Given the description of an element on the screen output the (x, y) to click on. 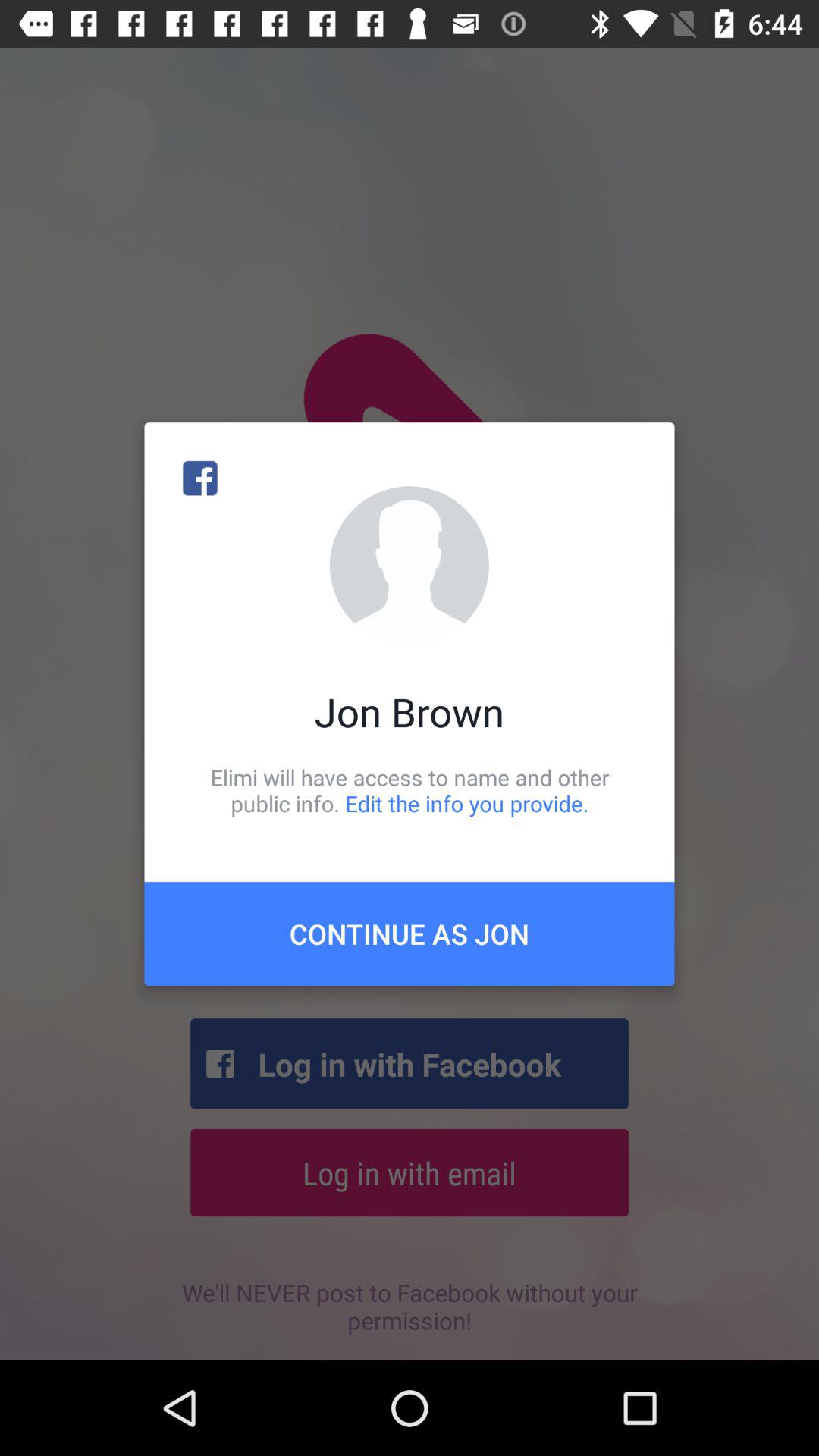
click icon below elimi will have (409, 933)
